Given the description of an element on the screen output the (x, y) to click on. 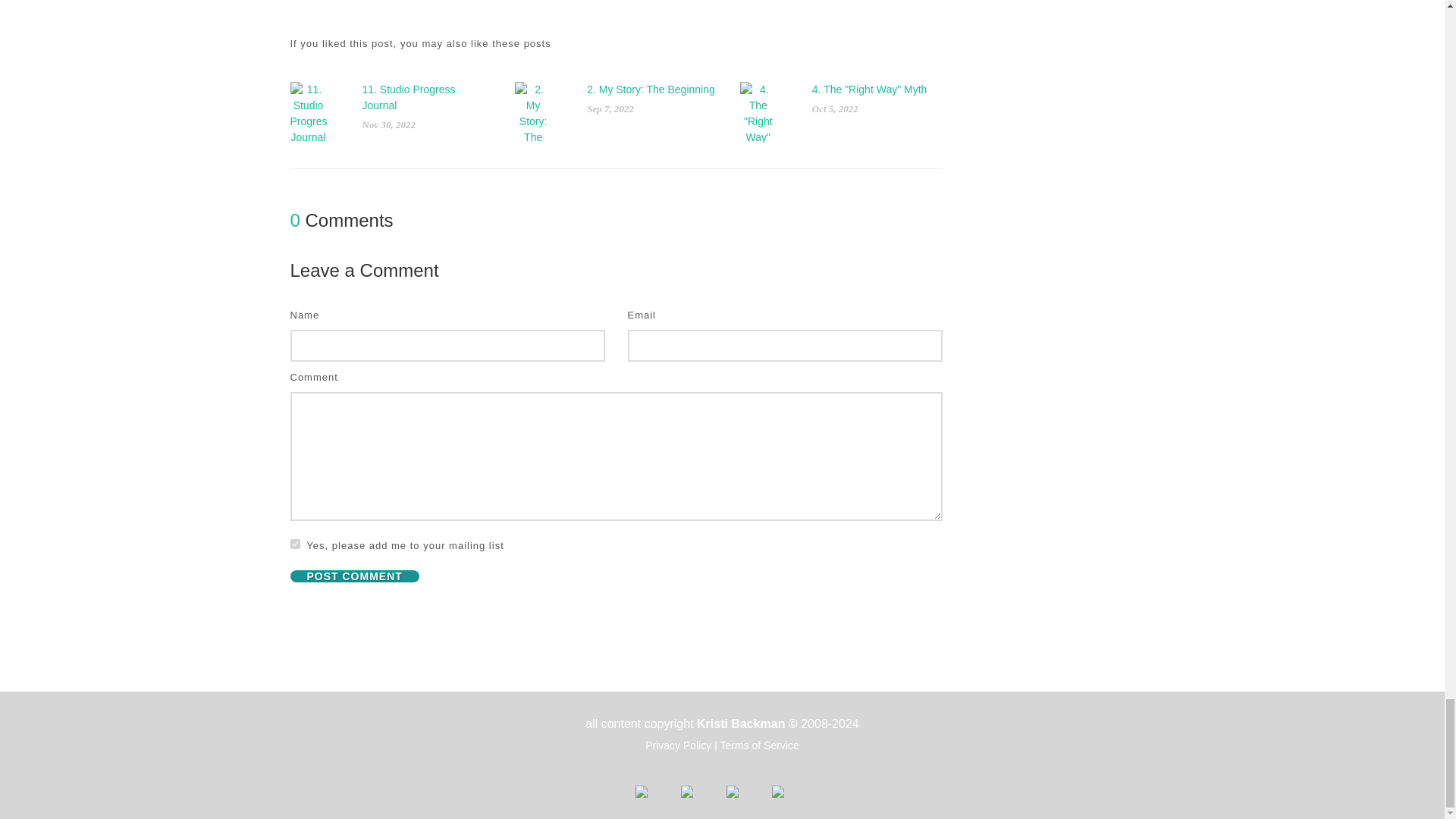
Nov 30, 2022 (388, 124)
2. My Story: The Beginning (650, 89)
Y (294, 543)
11. Studio Progress Journal (408, 97)
Sep 7, 2022 (609, 108)
